Given the description of an element on the screen output the (x, y) to click on. 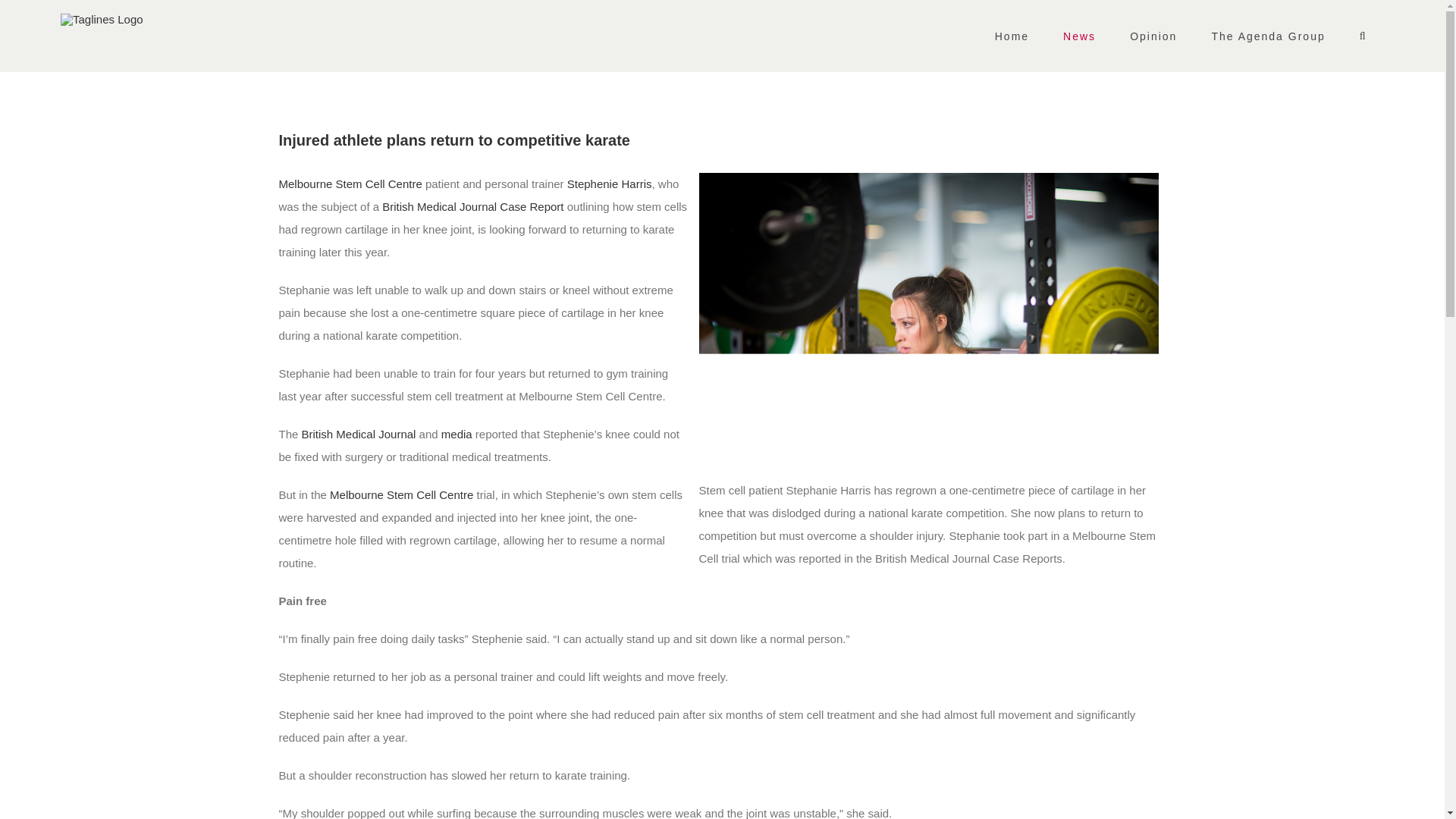
Melbourne Stem Cell Centre (350, 183)
The Agenda Group (1267, 36)
Melbourne Stem Cell Centre (401, 494)
media (456, 433)
News (1079, 36)
British Medical Journal (358, 433)
Home (1010, 36)
Search (1363, 36)
British Medical Journal Case Report (472, 205)
Opinion (1153, 36)
